Given the description of an element on the screen output the (x, y) to click on. 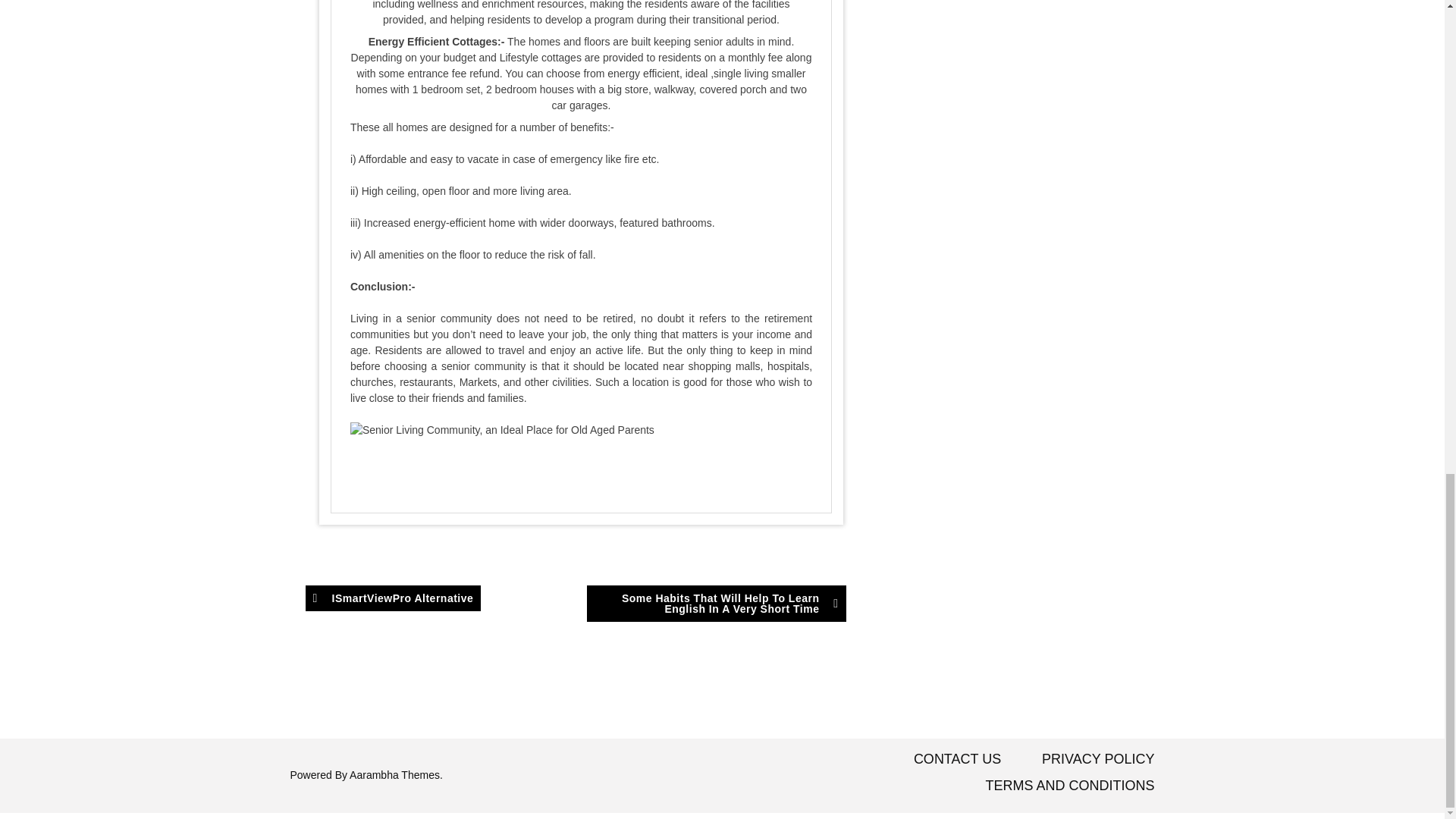
PRIVACY POLICY (1098, 758)
CONTACT US (957, 758)
TERMS AND CONDITIONS (1069, 785)
Senior Living Community, an Ideal Place for Old Aged Parents (501, 430)
ISmartViewPro Alternative (392, 597)
Aarambha Themes (394, 775)
